Given the description of an element on the screen output the (x, y) to click on. 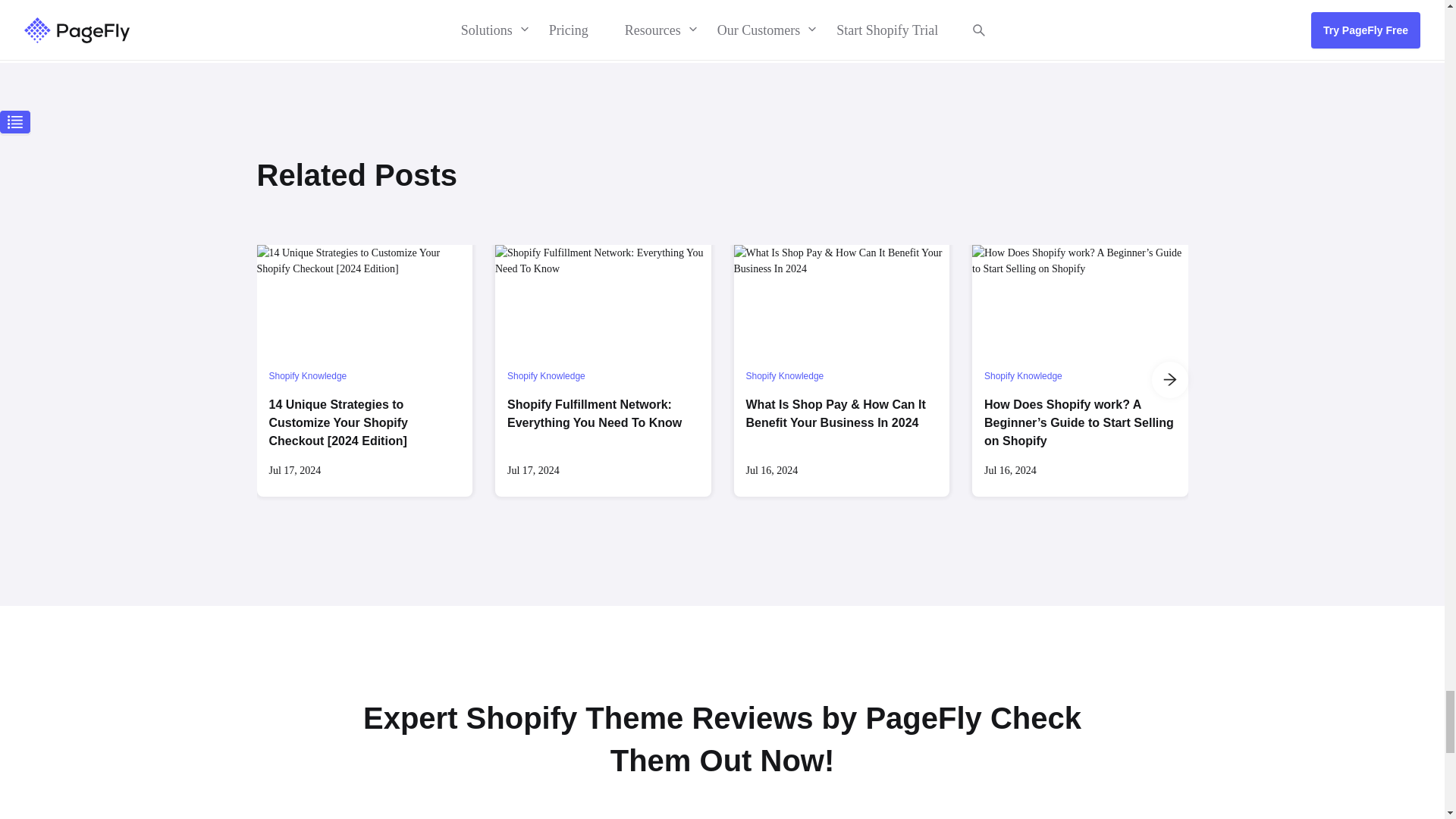
Show articles tagged Shopify Knowledge (1261, 376)
Show articles tagged Shopify Knowledge (784, 376)
Show articles tagged Shopify Knowledge (1023, 376)
Show articles tagged Shopify Knowledge (545, 376)
Show articles tagged Shopify Knowledge (306, 376)
